Given the description of an element on the screen output the (x, y) to click on. 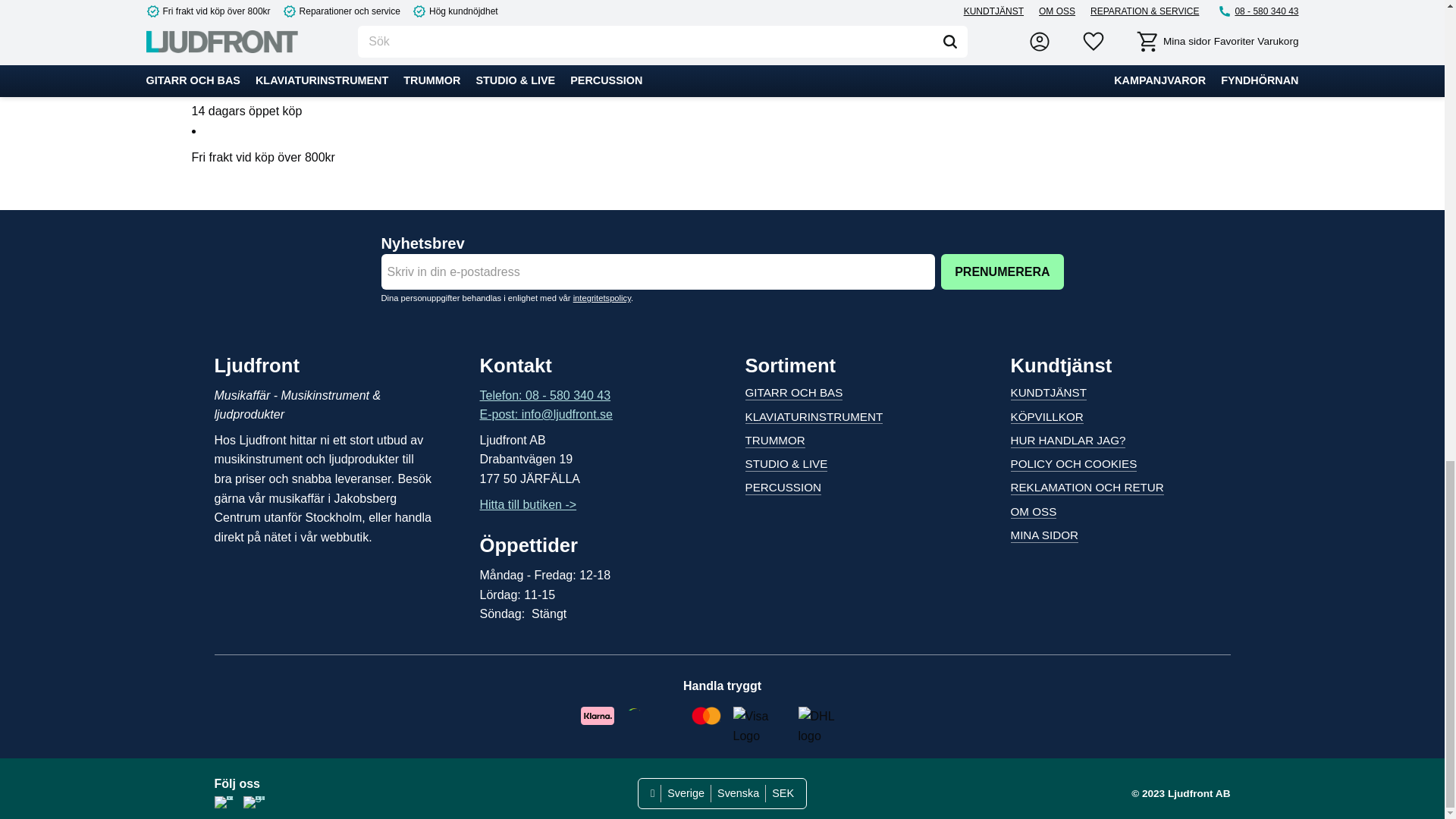
Percussion (782, 488)
Gitarr och bas (793, 393)
Klaviaturinstrument (813, 418)
PERCUSSION (782, 488)
GITARR OCH BAS (793, 393)
Telefon: 08 - 580 340 43 (544, 395)
TRUMMOR (774, 440)
integritetspolicy (601, 297)
HUR HANDLAR JAG? (1067, 440)
KLAVIATURINSTRUMENT (813, 418)
Trummor (774, 440)
POLICY OCH COOKIES (1073, 464)
PRENUMERERA (1001, 271)
